Given the description of an element on the screen output the (x, y) to click on. 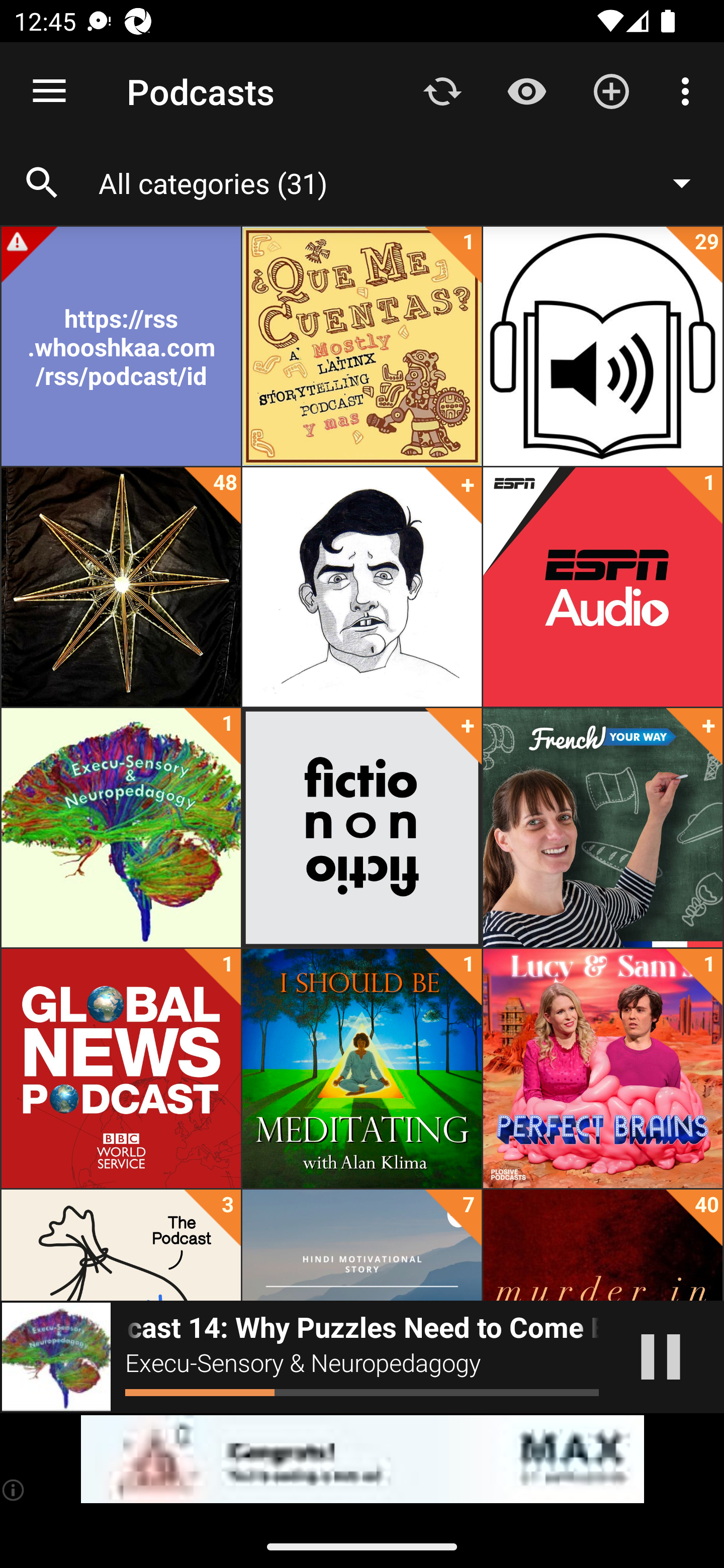
Open navigation sidebar (49, 91)
Update (442, 90)
Show / Hide played content (526, 90)
Add new Podcast (611, 90)
More options (688, 90)
Search (42, 183)
All categories (31) (404, 182)
https://rss.whooshkaa.com/rss/podcast/id/5884 (121, 346)
¿Qué Me Cuentas?: Latinx Storytelling 1 (361, 346)
Audiobooks 29 (602, 346)
Audiobooks 48 (121, 587)
Cooking Issues with Dave Arnold + (361, 587)
ESPN Audio 1 (602, 587)
fiction/non/fiction + (361, 827)
Global News Podcast 1 (121, 1068)
Lucy & Sam's Perfect Brains 1 (602, 1068)
Play / Pause (660, 1356)
app-monetization (362, 1459)
(i) (14, 1489)
